Given the description of an element on the screen output the (x, y) to click on. 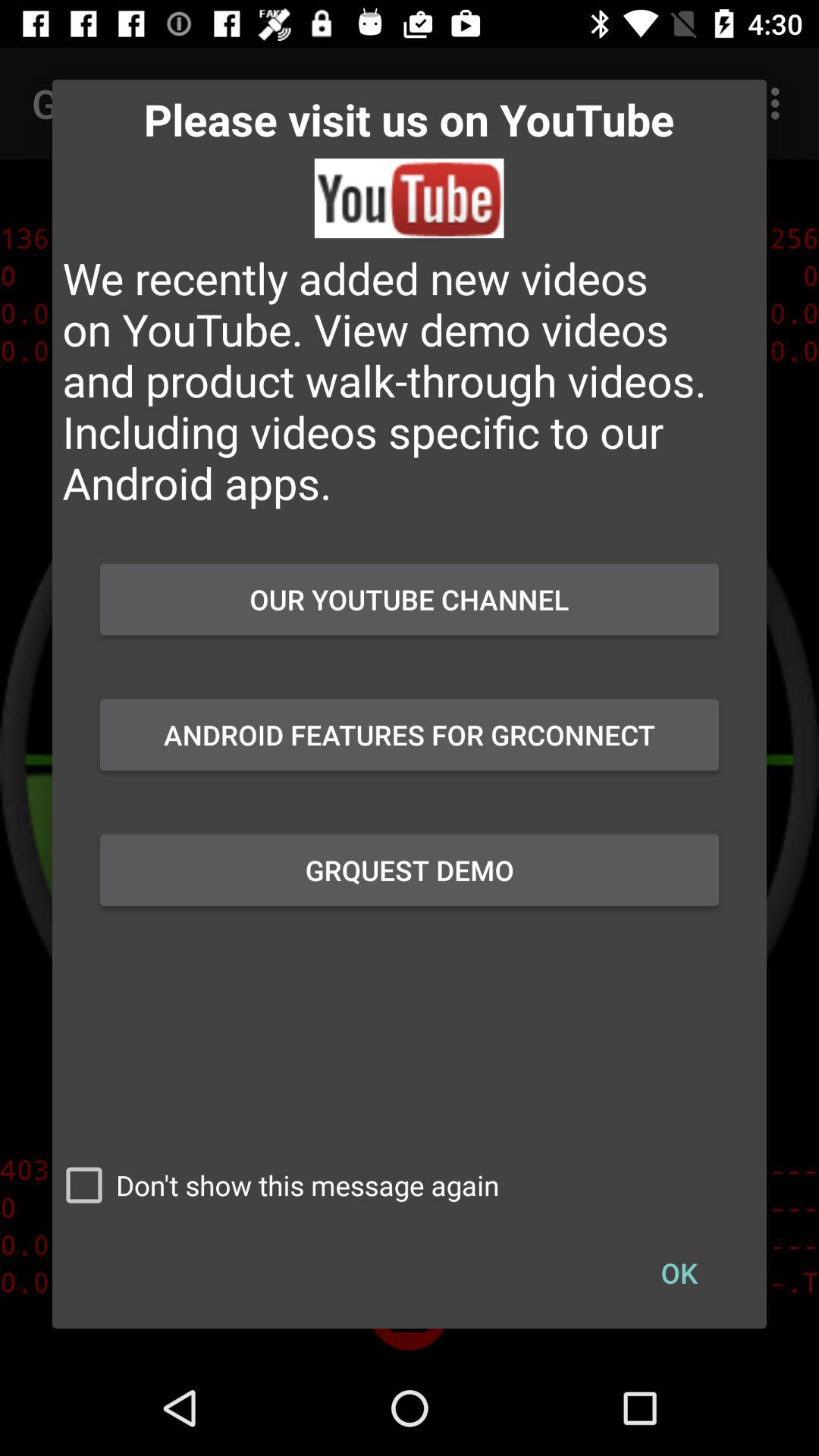
swipe to the don t show (275, 1185)
